Given the description of an element on the screen output the (x, y) to click on. 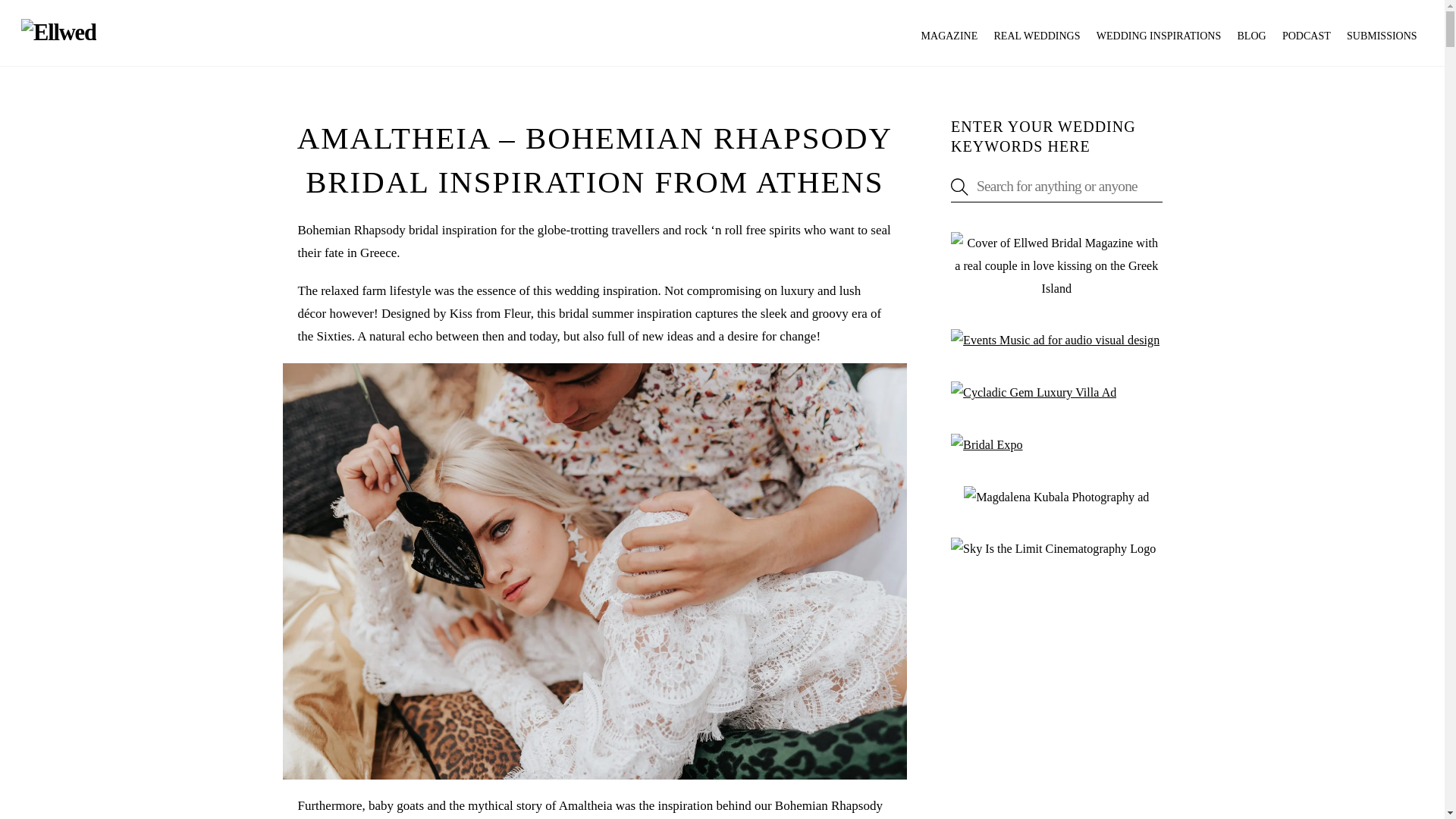
WEDDING INSPIRATIONS (1158, 36)
SUBMISSIONS (1381, 36)
Ellwed (58, 32)
MAGAZINE (949, 36)
REAL WEDDINGS (1036, 36)
Search (1055, 185)
PODCAST (1307, 36)
BLOG (1251, 36)
